Given the description of an element on the screen output the (x, y) to click on. 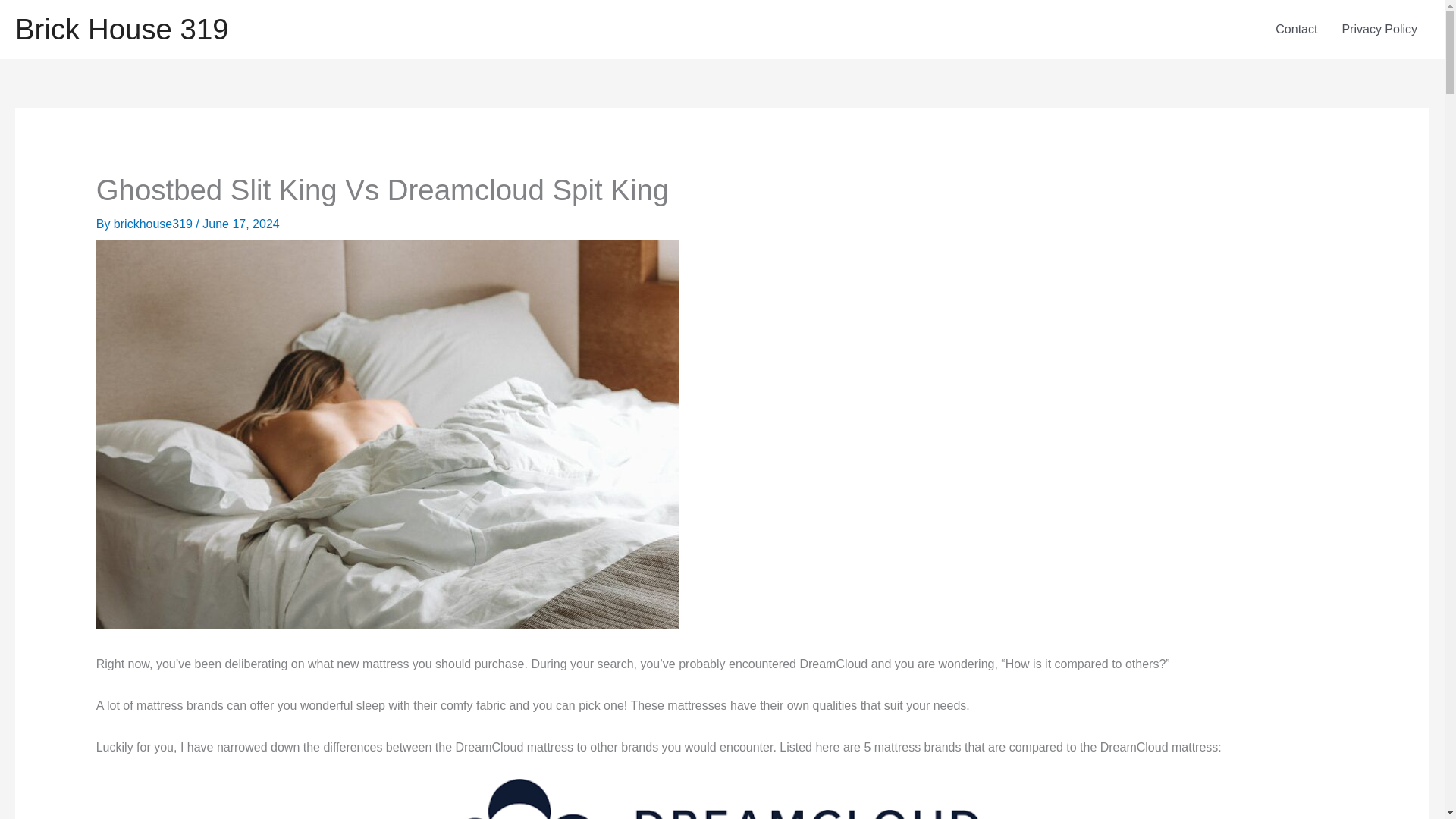
Brick House 319 (121, 29)
View all posts by brickhouse319 (154, 223)
brickhouse319 (154, 223)
Privacy Policy (1379, 29)
Contact (1296, 29)
